Given the description of an element on the screen output the (x, y) to click on. 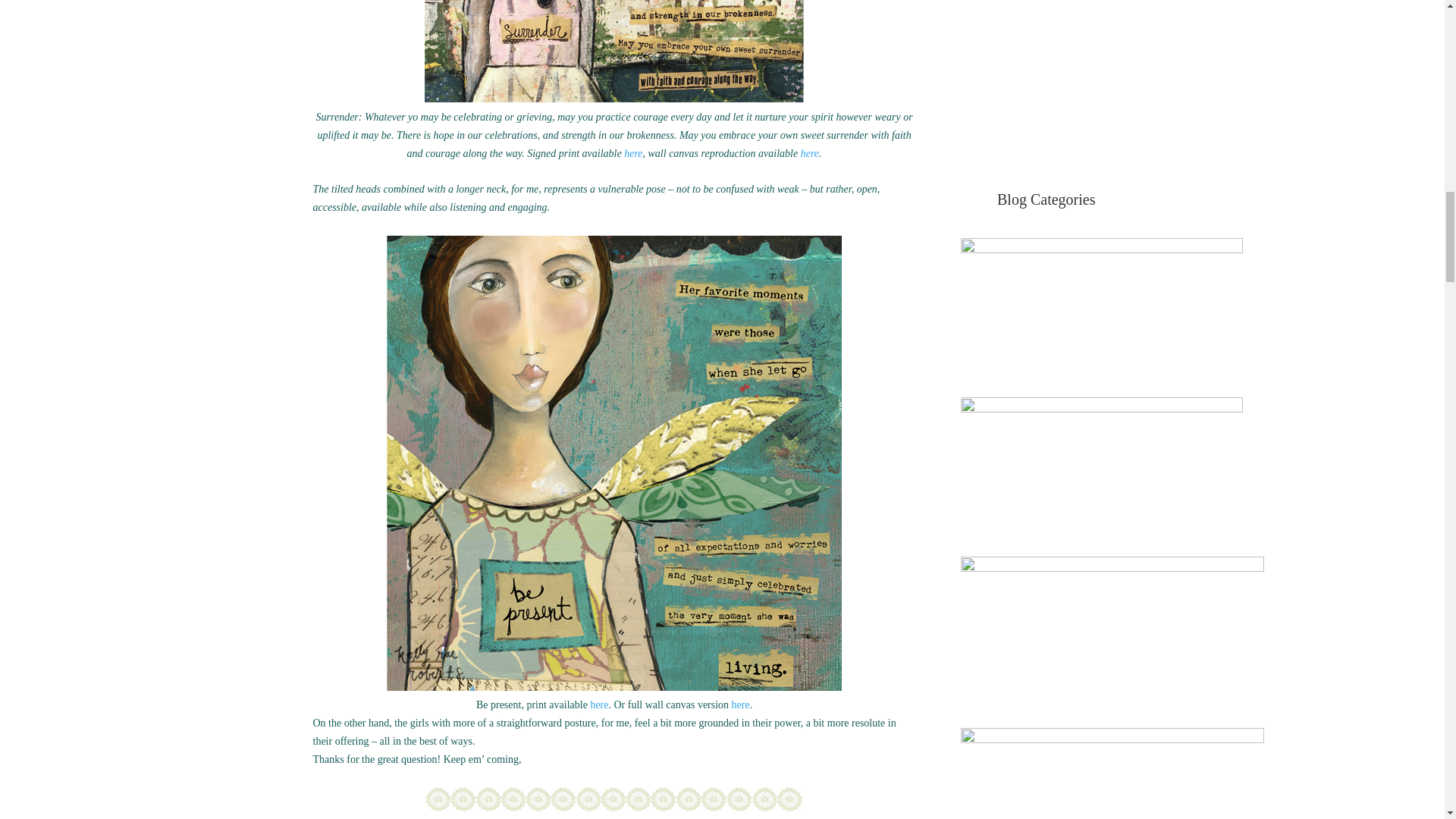
My Creative Practice (1111, 773)
Life in Progress (1111, 642)
here (598, 704)
here (809, 153)
Shop (1045, 83)
 here (632, 153)
here (740, 704)
Inspiring Products (1101, 476)
Home and Studio Tours (1101, 317)
